Given the description of an element on the screen output the (x, y) to click on. 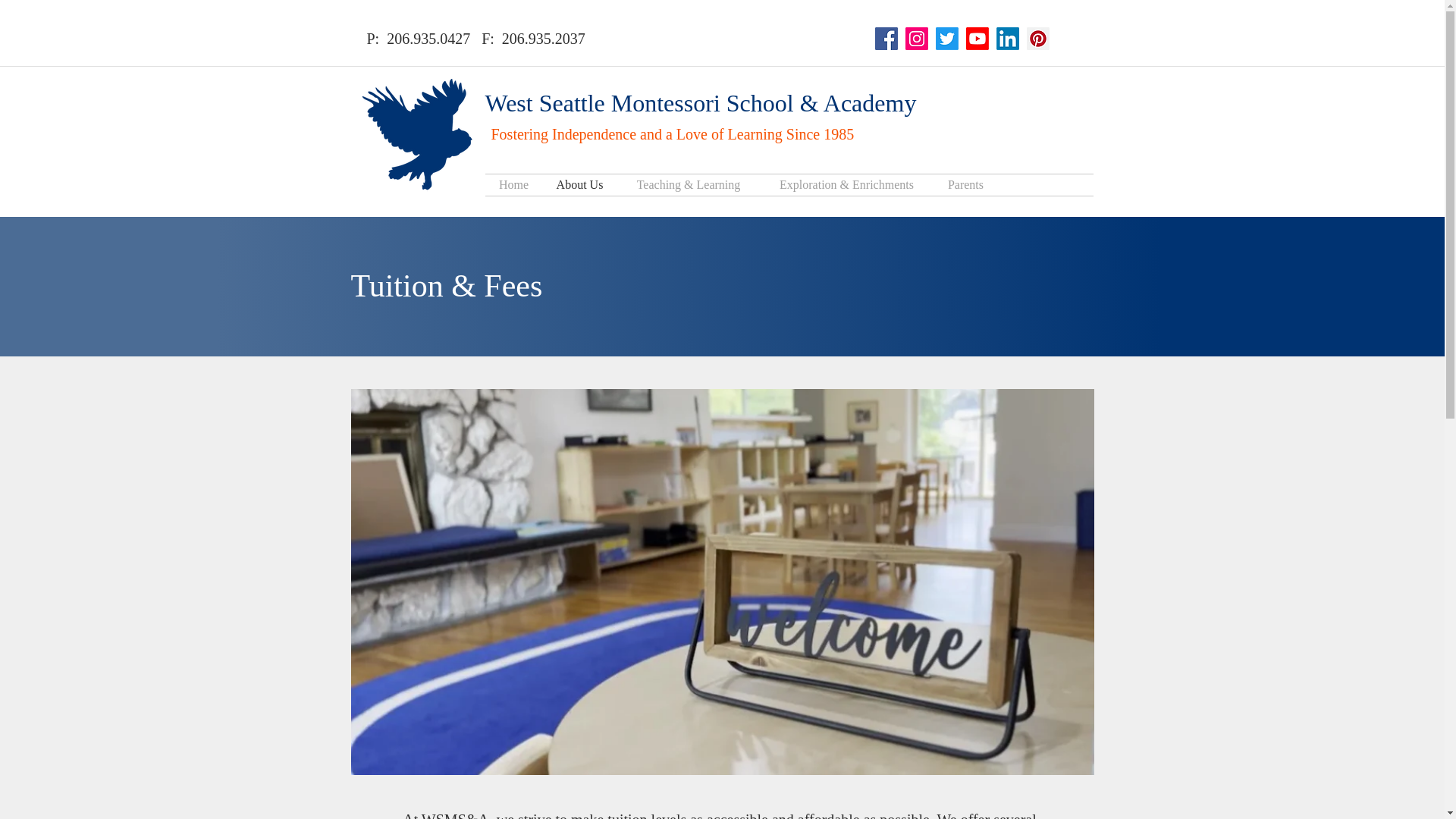
About Us (580, 184)
Parents (965, 184)
Home (513, 184)
